Given the description of an element on the screen output the (x, y) to click on. 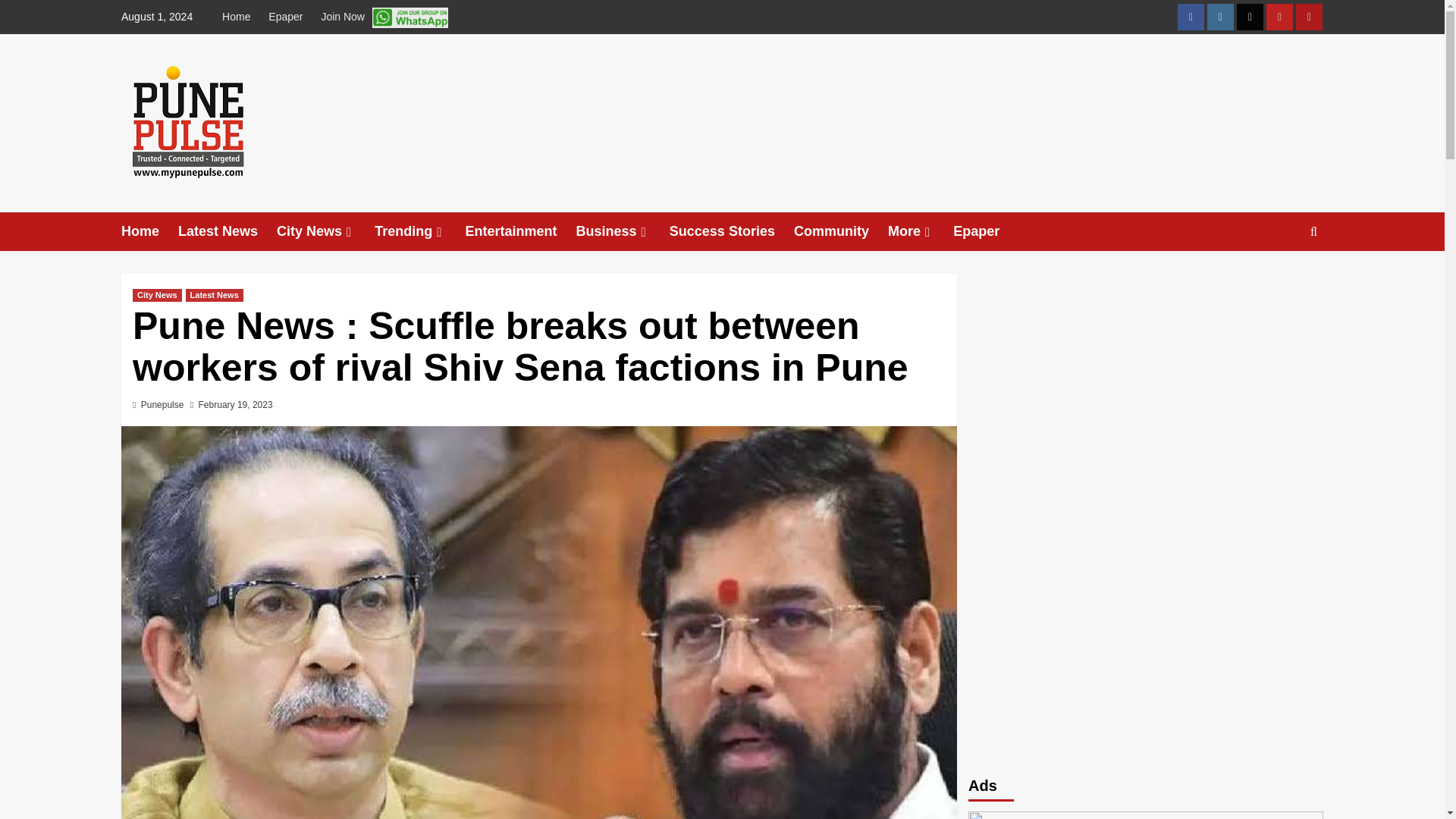
Home (148, 231)
Join Now (384, 17)
Success Stories (731, 231)
Epaper (285, 17)
Instagram (1220, 17)
Entertainment (520, 231)
Trending (419, 231)
Business (622, 231)
Community (840, 231)
Latest News (226, 231)
Home (239, 17)
Facebook (1190, 17)
More (920, 231)
Twitter (1249, 17)
Telegram (1308, 17)
